Given the description of an element on the screen output the (x, y) to click on. 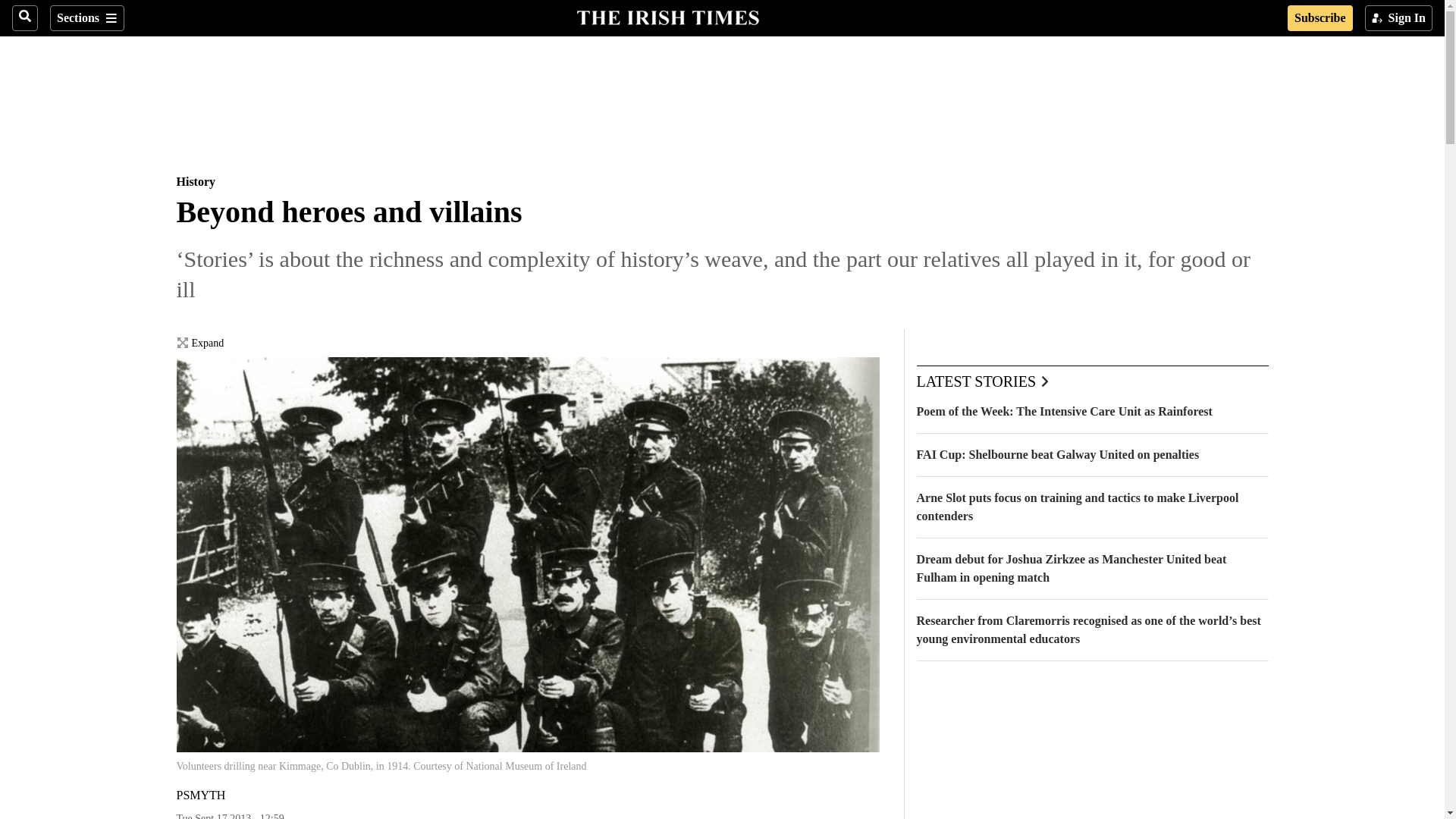
Subscribe (1319, 17)
Sign In (1398, 17)
Sections (86, 17)
The Irish Times (667, 16)
